Given the description of an element on the screen output the (x, y) to click on. 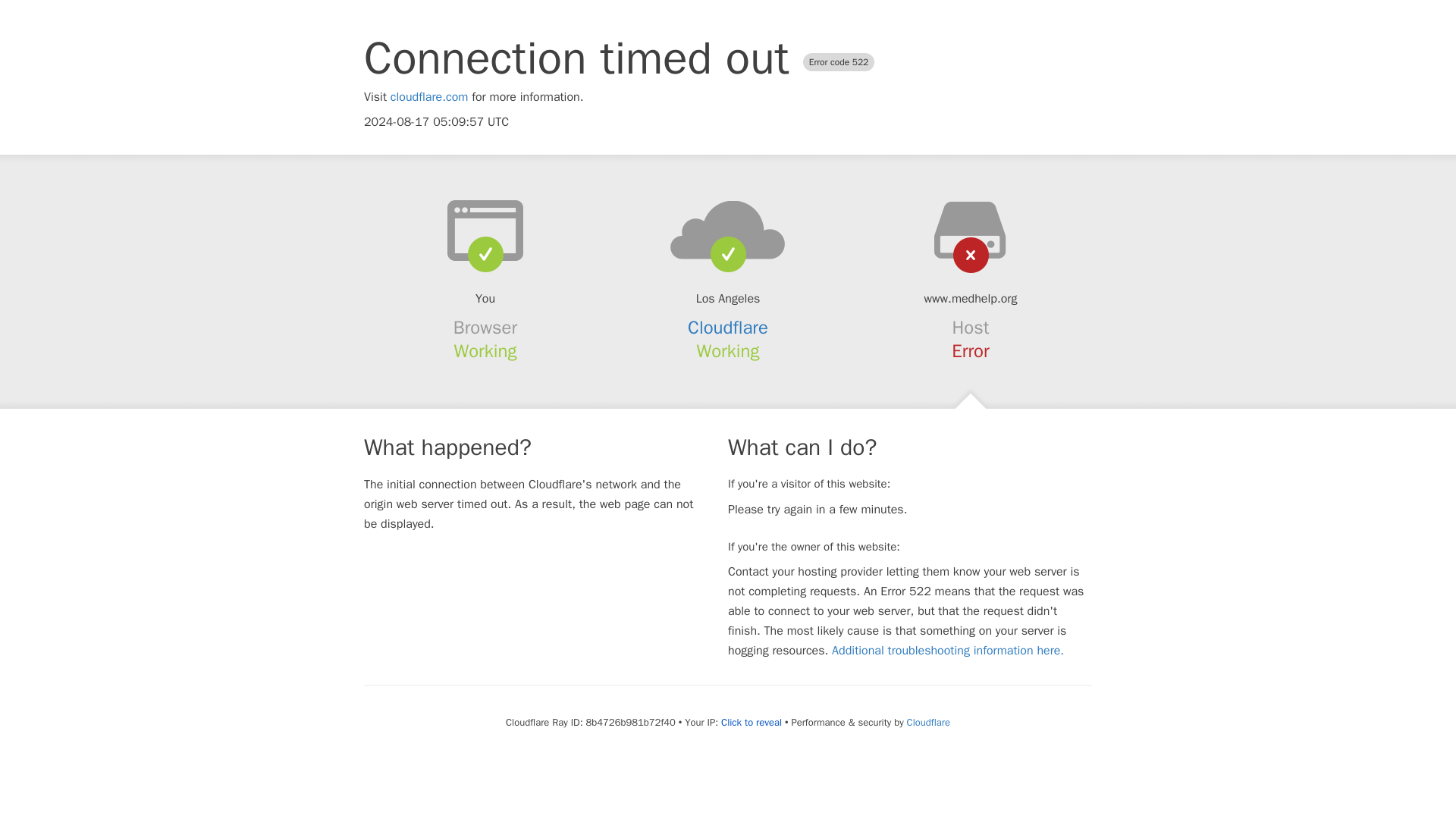
Cloudflare (928, 721)
Additional troubleshooting information here. (947, 650)
Click to reveal (750, 722)
Cloudflare (727, 327)
cloudflare.com (429, 96)
